Given the description of an element on the screen output the (x, y) to click on. 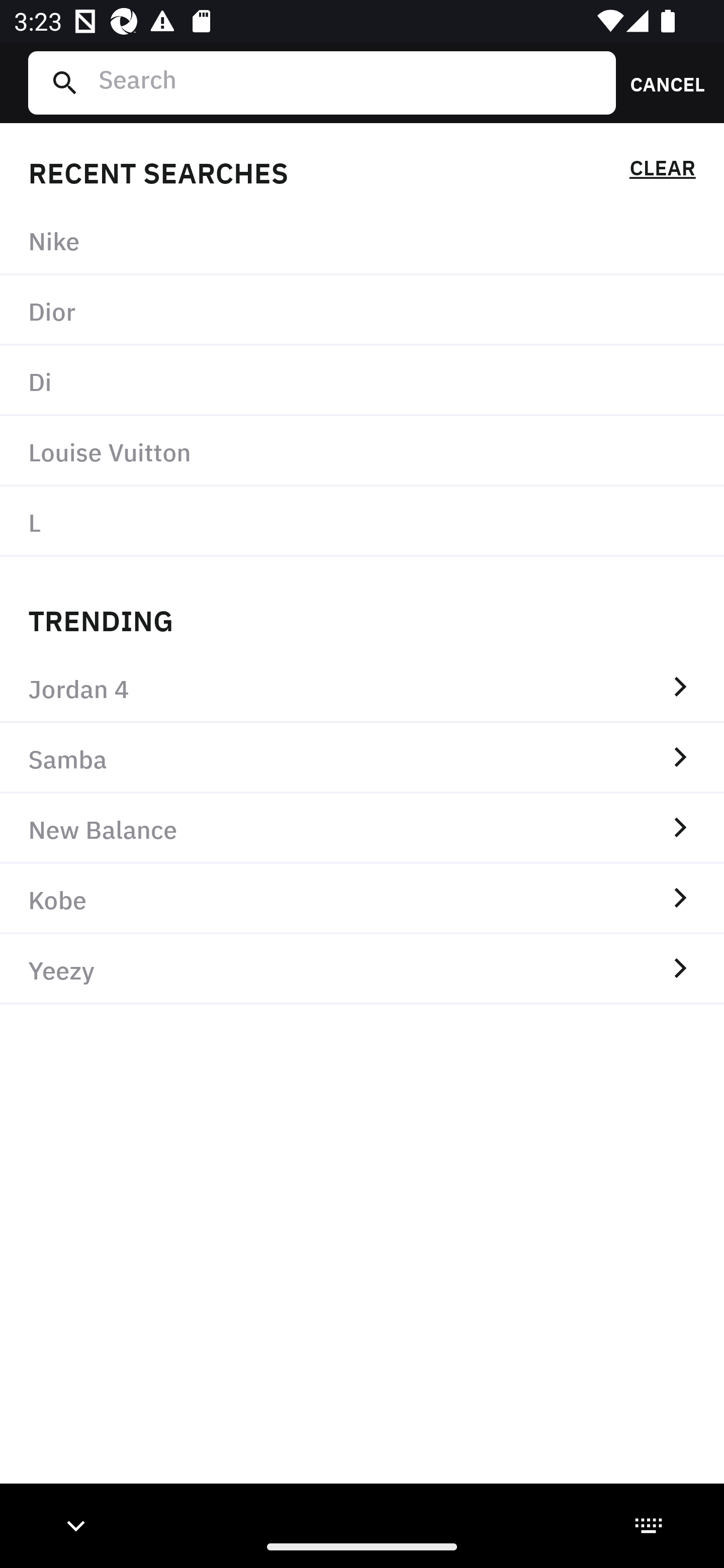
CANCEL (660, 82)
Search (349, 82)
CLEAR (662, 170)
Nike (362, 240)
Dior (362, 310)
Di (362, 380)
Louise Vuitton (362, 450)
L (362, 521)
Jordan 4  (362, 687)
Samba  (362, 757)
New Balance  (362, 828)
Kobe  (362, 898)
Yeezy  (362, 969)
